Given the description of an element on the screen output the (x, y) to click on. 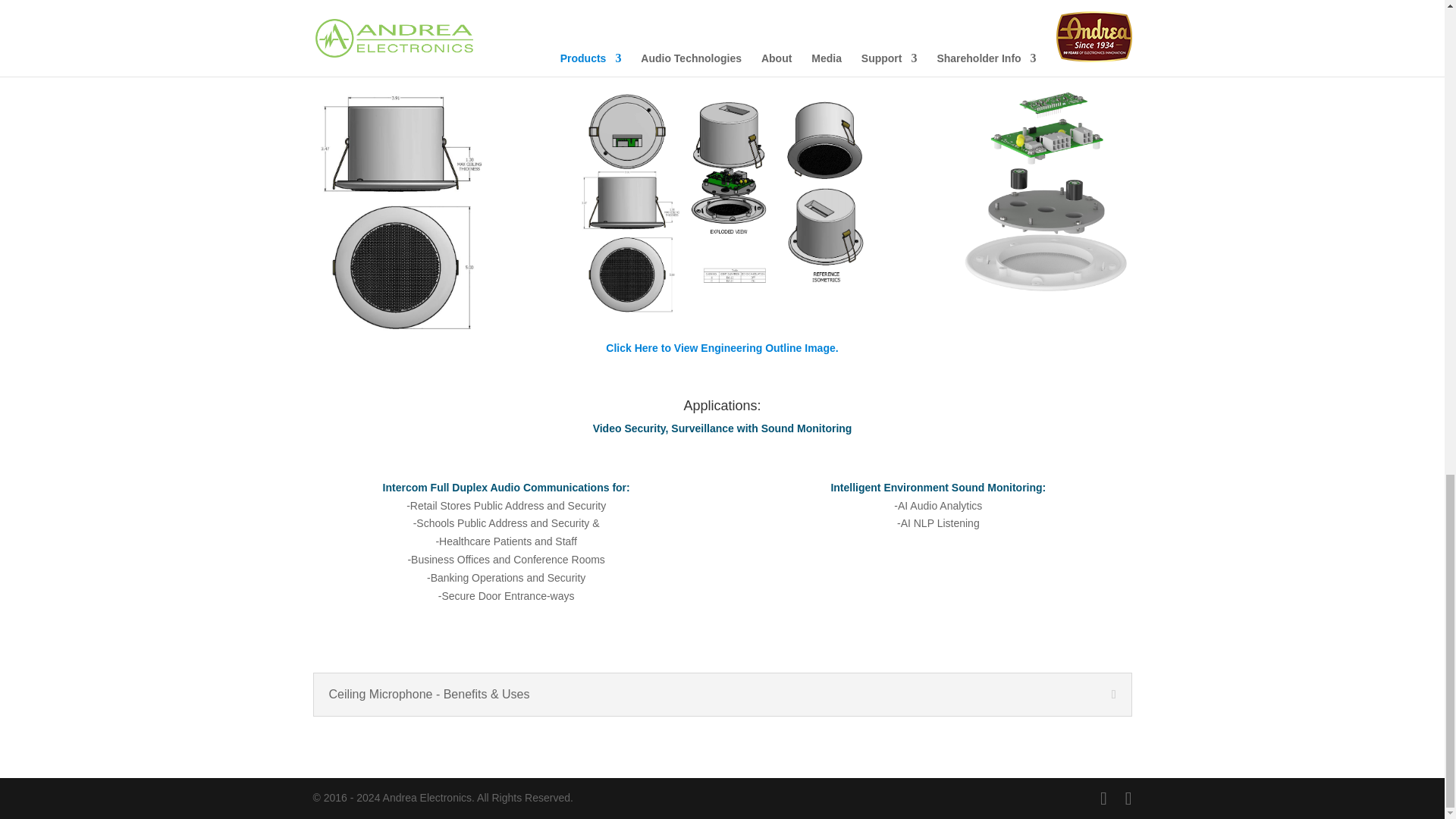
DA-30-DA-30AEC OUTLINE C1-1030800-X (721, 203)
